Given the description of an element on the screen output the (x, y) to click on. 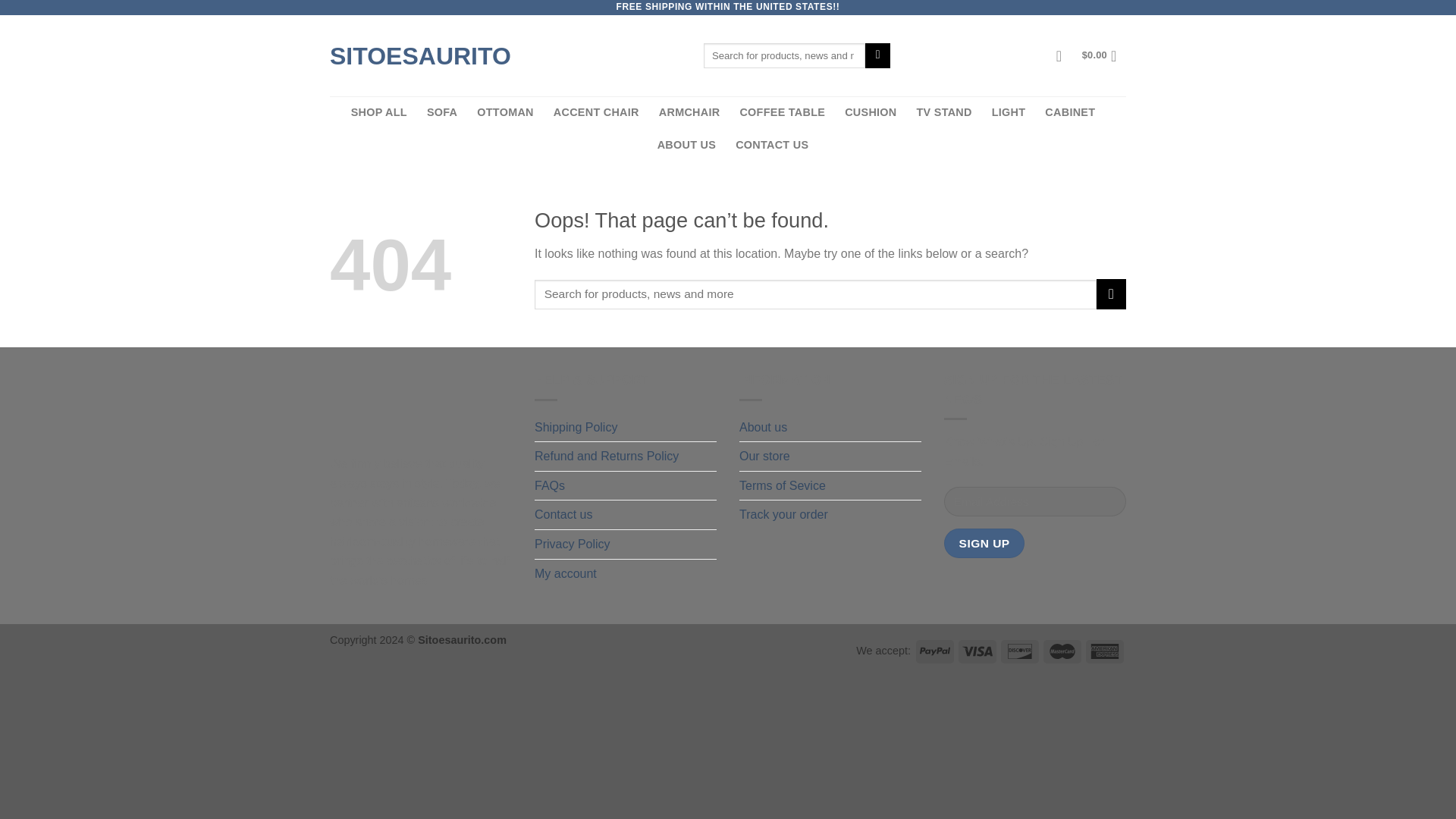
Contact us (563, 514)
Refund and Returns Policy (606, 456)
CUSHION (870, 112)
My account (565, 573)
Our store (764, 456)
LIGHT (1008, 112)
ABOUT US (687, 144)
ARMCHAIR (689, 112)
Sign Up (984, 542)
COFFEE TABLE (782, 112)
